Given the description of an element on the screen output the (x, y) to click on. 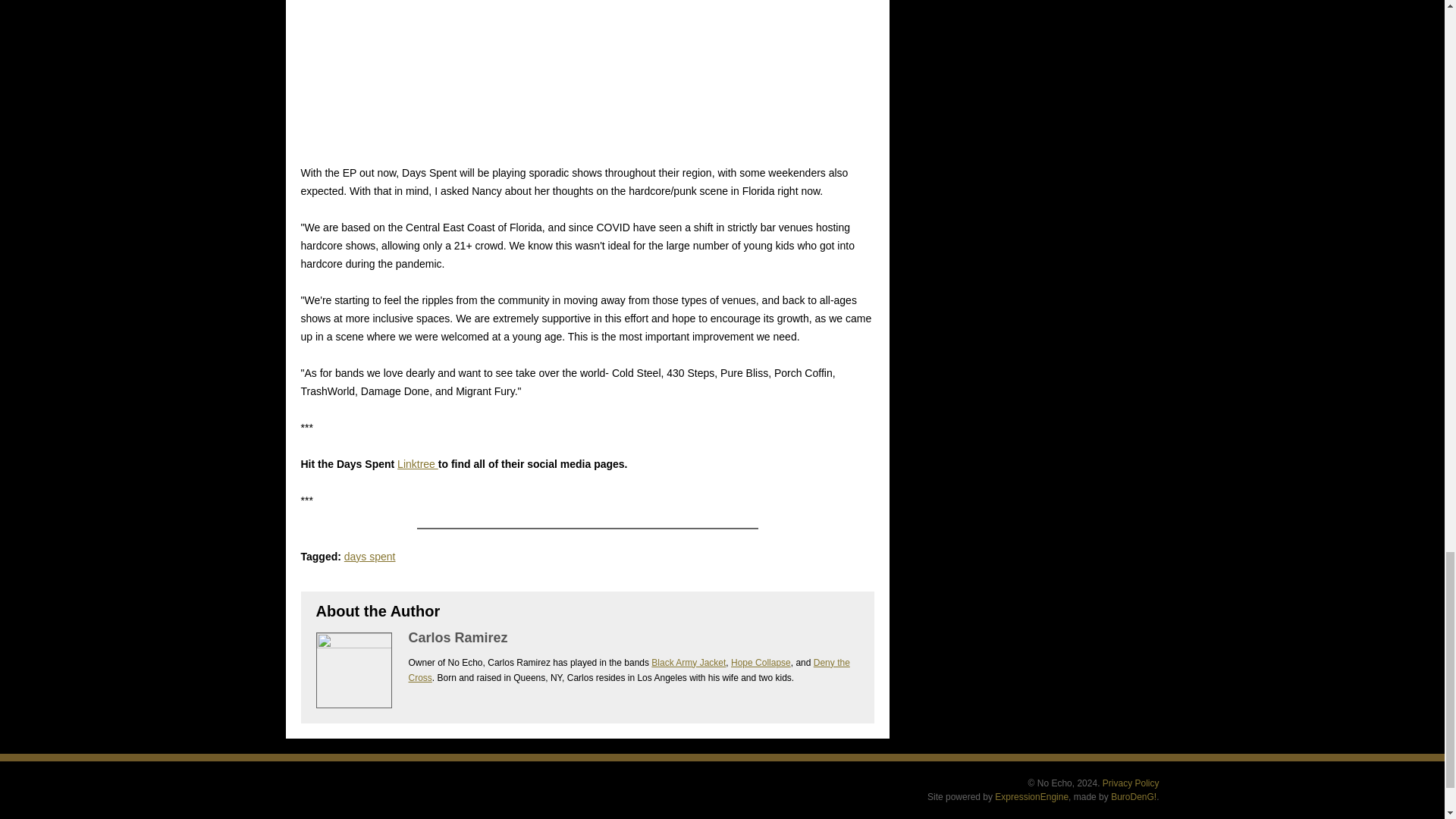
days spent (369, 556)
Linktree (417, 463)
Hope Collapse (760, 662)
Deny the Cross (627, 670)
Black Army Jacket (687, 662)
